Given the description of an element on the screen output the (x, y) to click on. 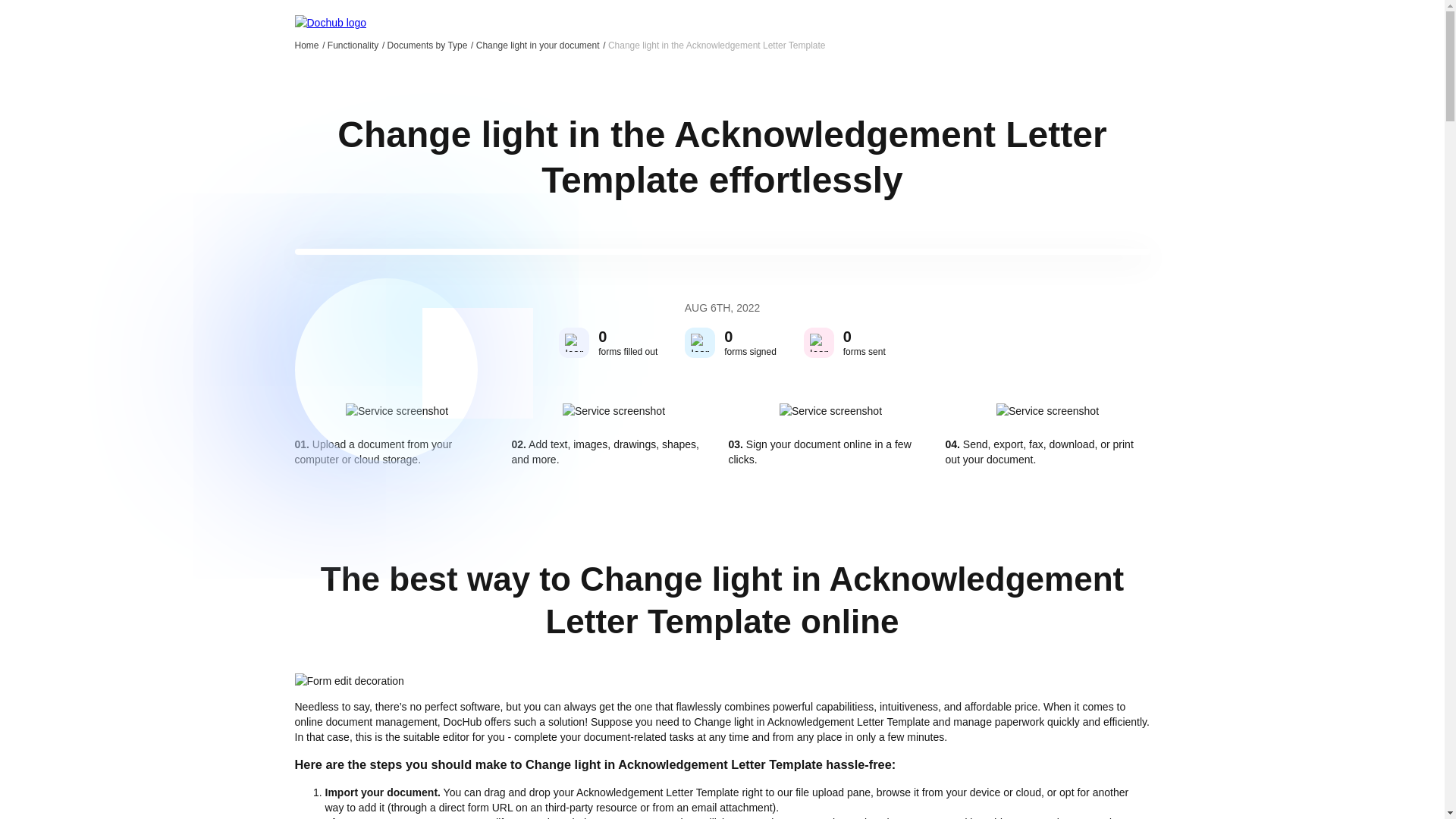
Documents by Type (430, 45)
Functionality (355, 45)
Home (309, 45)
Change light in your document (540, 45)
